Given the description of an element on the screen output the (x, y) to click on. 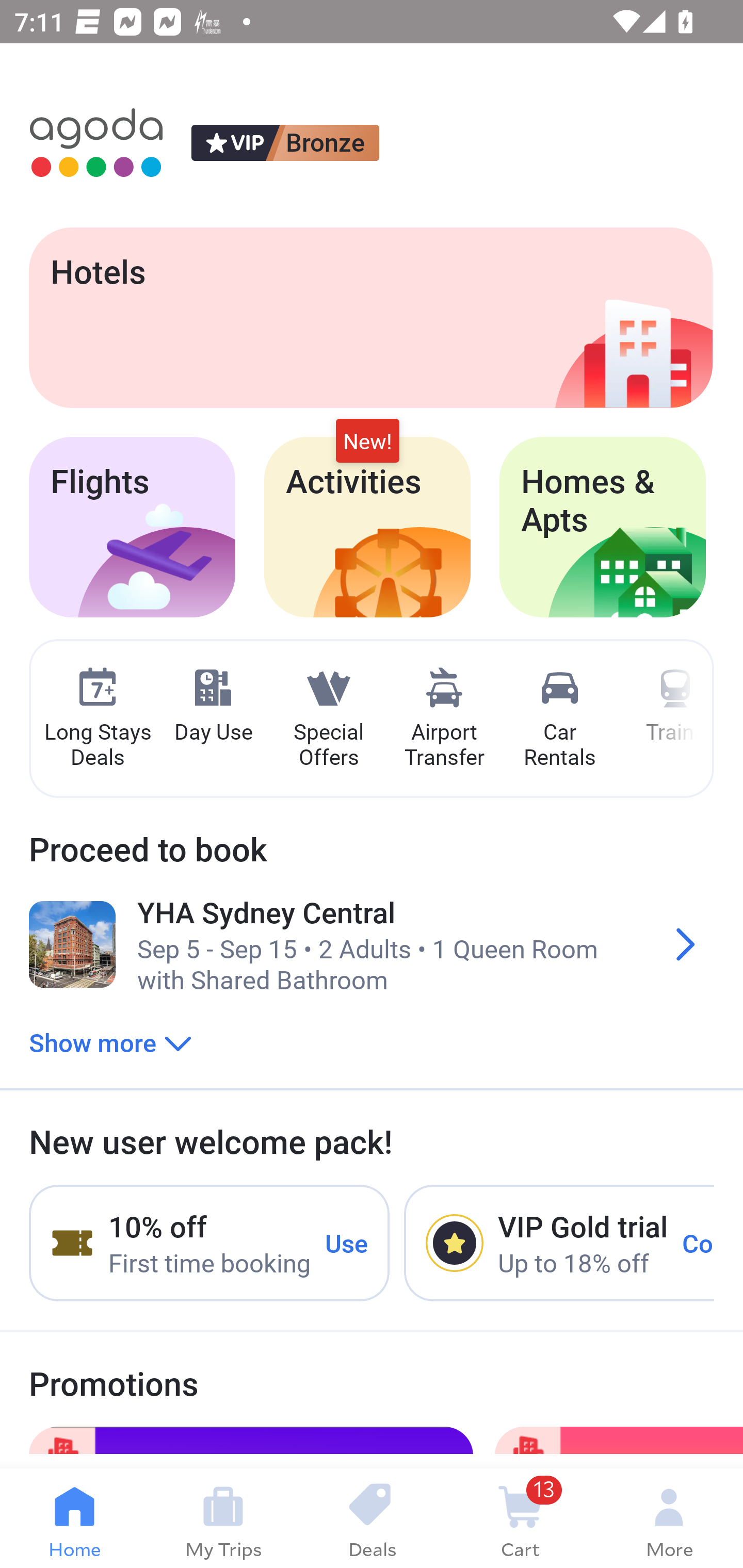
Hotels (370, 317)
New! (367, 441)
Flights (131, 527)
Activities (367, 527)
Homes & Apts (602, 527)
Day Use (213, 706)
Long Stays Deals (97, 718)
Special Offers (328, 718)
Airport Transfer (444, 718)
Car Rentals (559, 718)
Show more (110, 1041)
Use (346, 1242)
Home (74, 1518)
My Trips (222, 1518)
Deals (371, 1518)
13 Cart (519, 1518)
More (668, 1518)
